Given the description of an element on the screen output the (x, y) to click on. 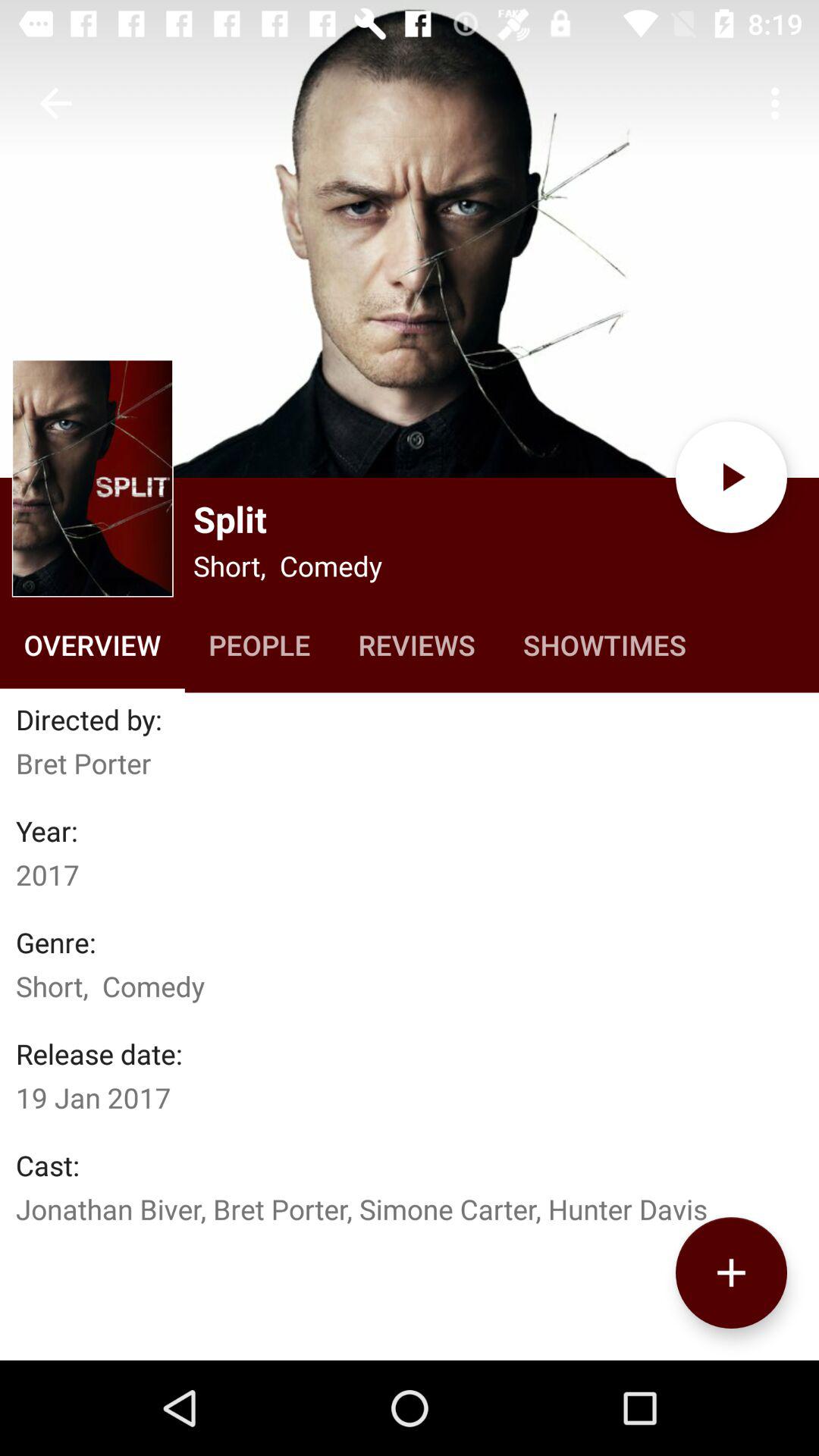
view image (409, 238)
